Given the description of an element on the screen output the (x, y) to click on. 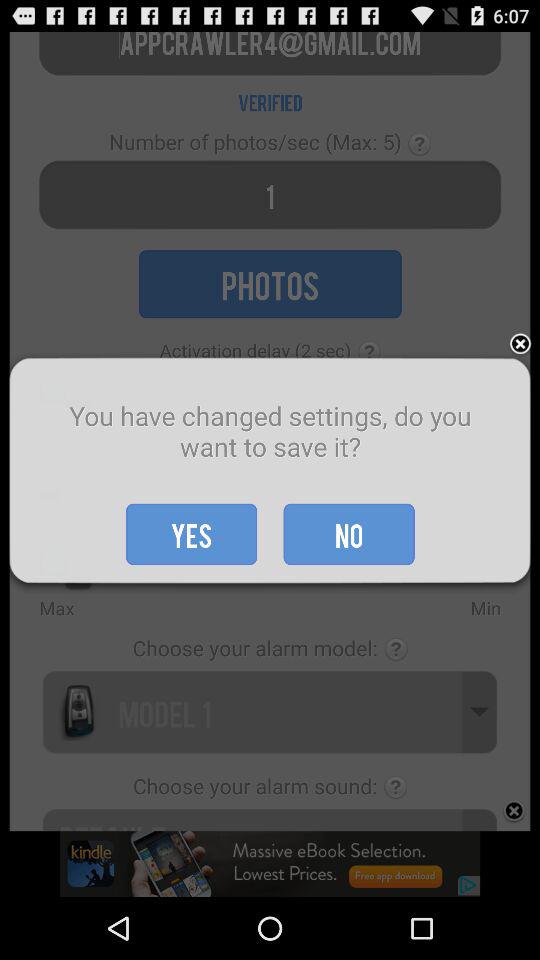
press icon next to the yes button (348, 534)
